Given the description of an element on the screen output the (x, y) to click on. 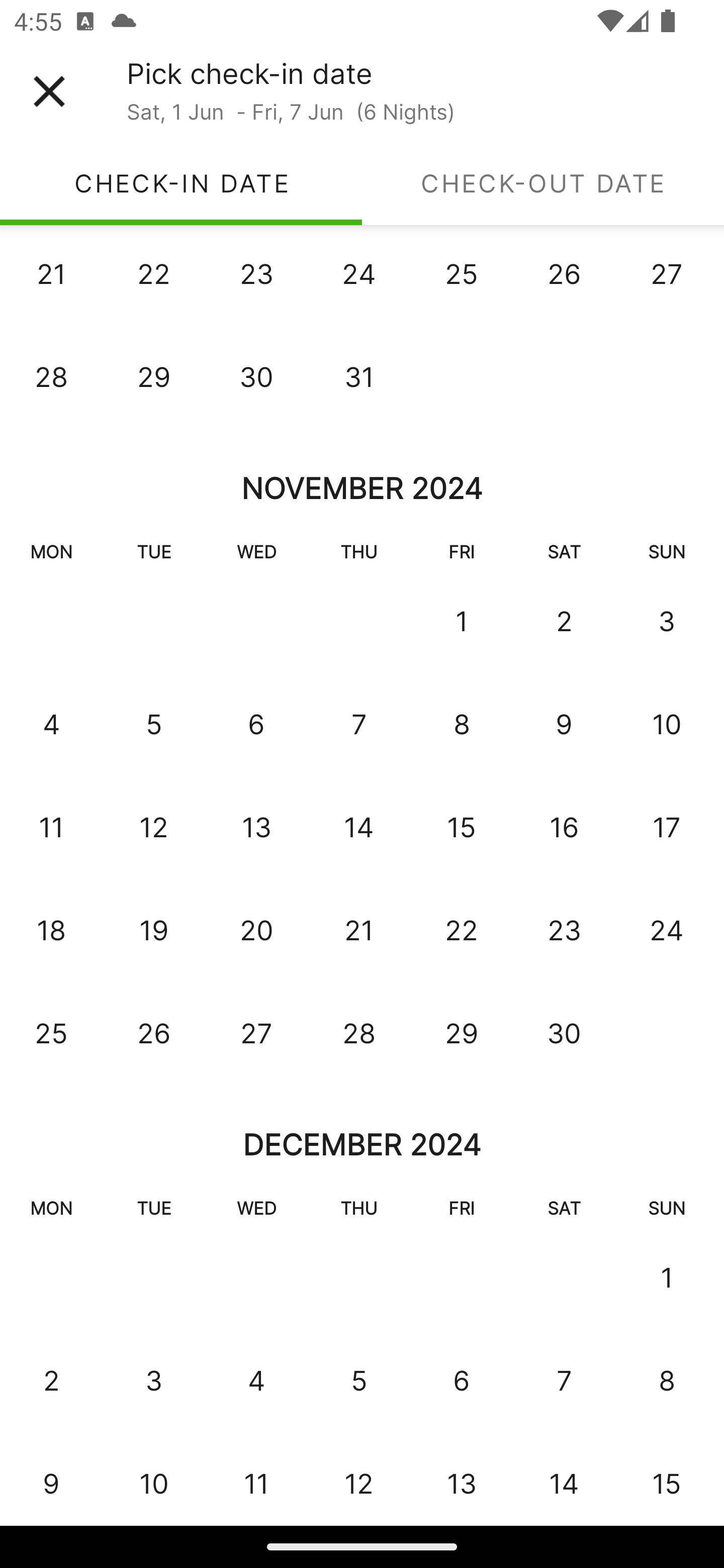
Check-out Date CHECK-OUT DATE (543, 183)
